Given the description of an element on the screen output the (x, y) to click on. 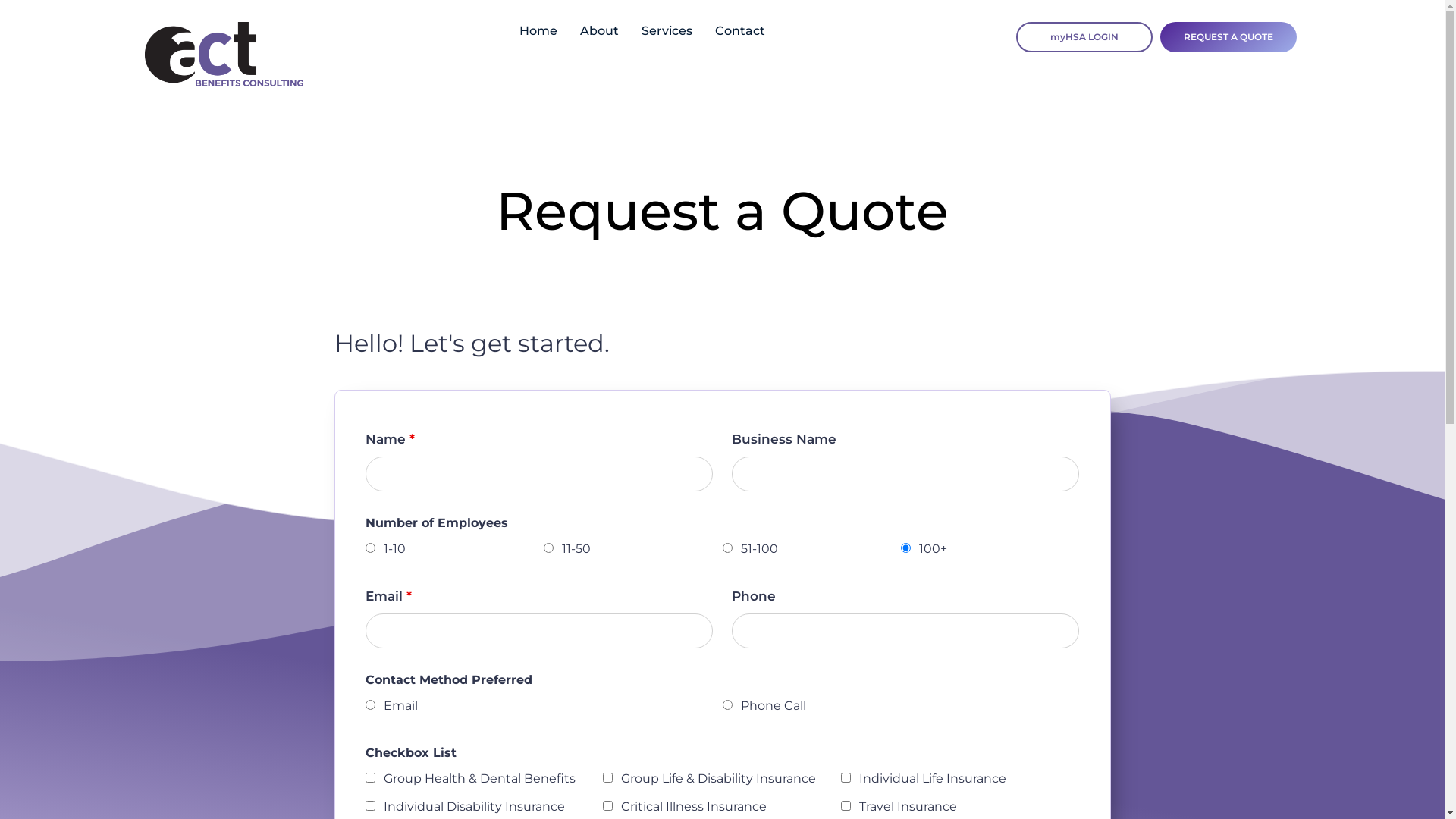
Home Element type: text (538, 30)
Contact Element type: text (739, 30)
About Element type: text (599, 30)
myHSA LOGIN Element type: text (1084, 36)
REQUEST A QUOTE Element type: text (1228, 36)
Services Element type: text (666, 30)
